Given the description of an element on the screen output the (x, y) to click on. 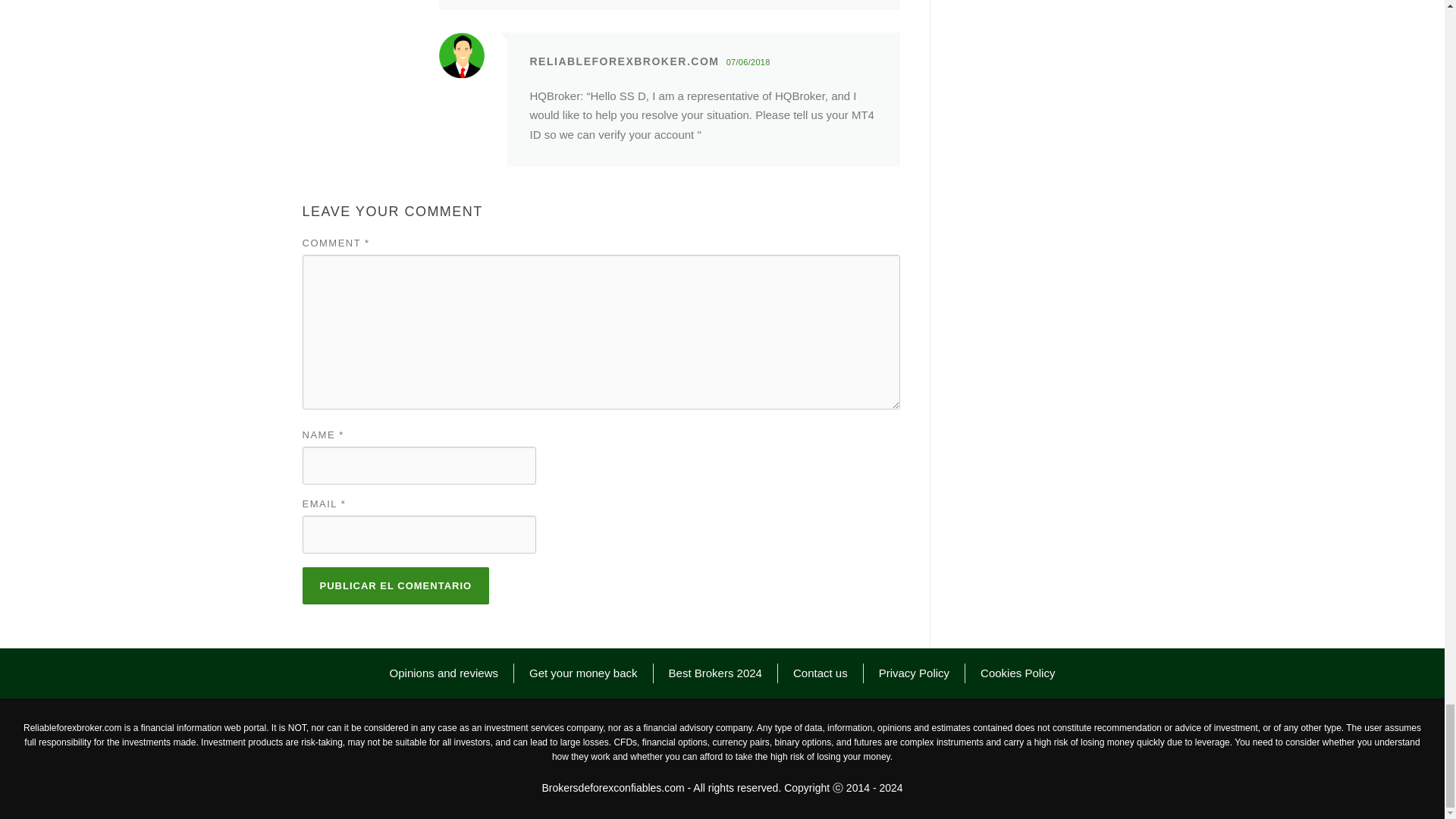
Publicar el comentario (395, 585)
